Given the description of an element on the screen output the (x, y) to click on. 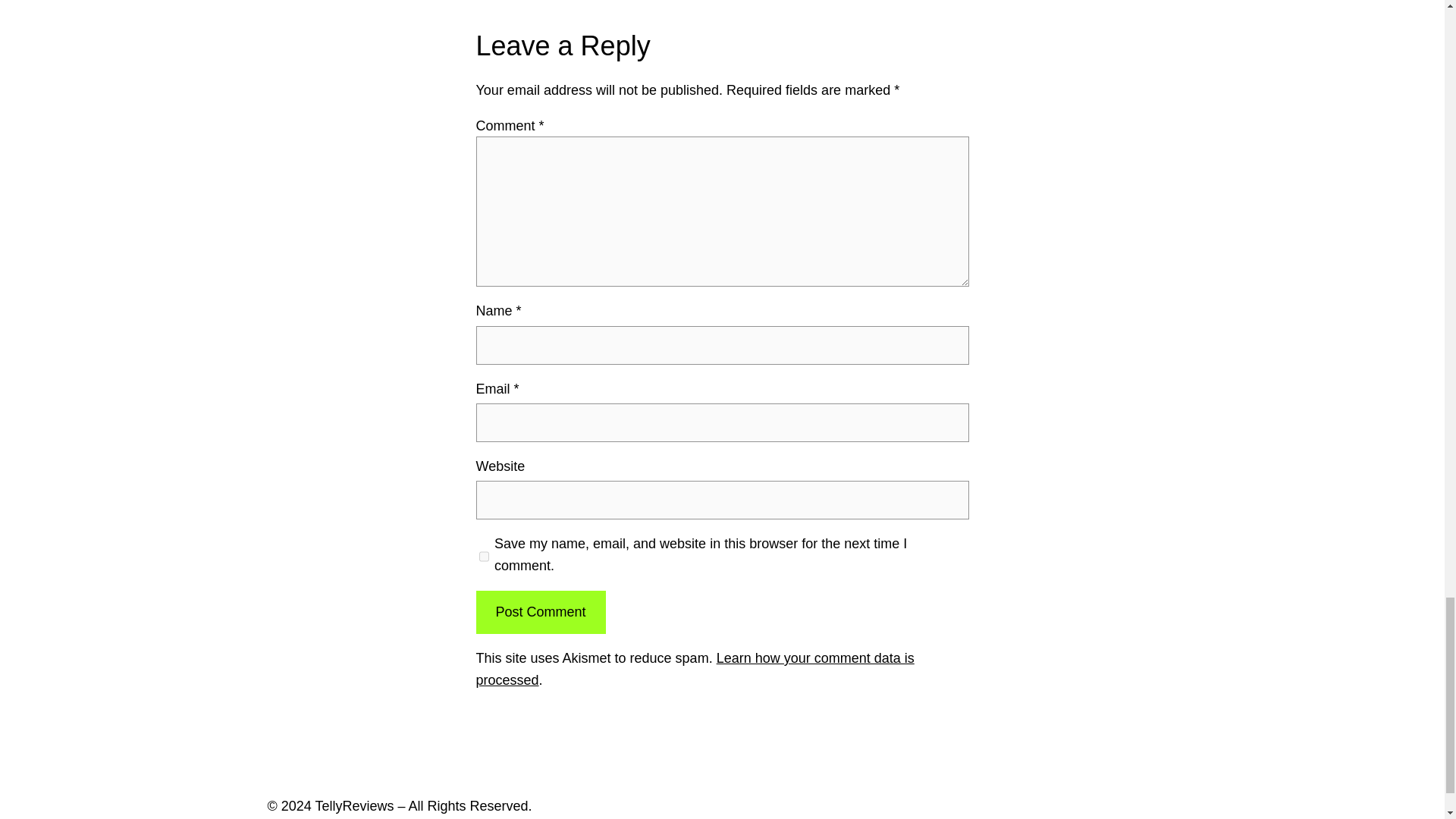
Post Comment (540, 611)
Learn how your comment data is processed (695, 668)
Post Comment (540, 611)
